Given the description of an element on the screen output the (x, y) to click on. 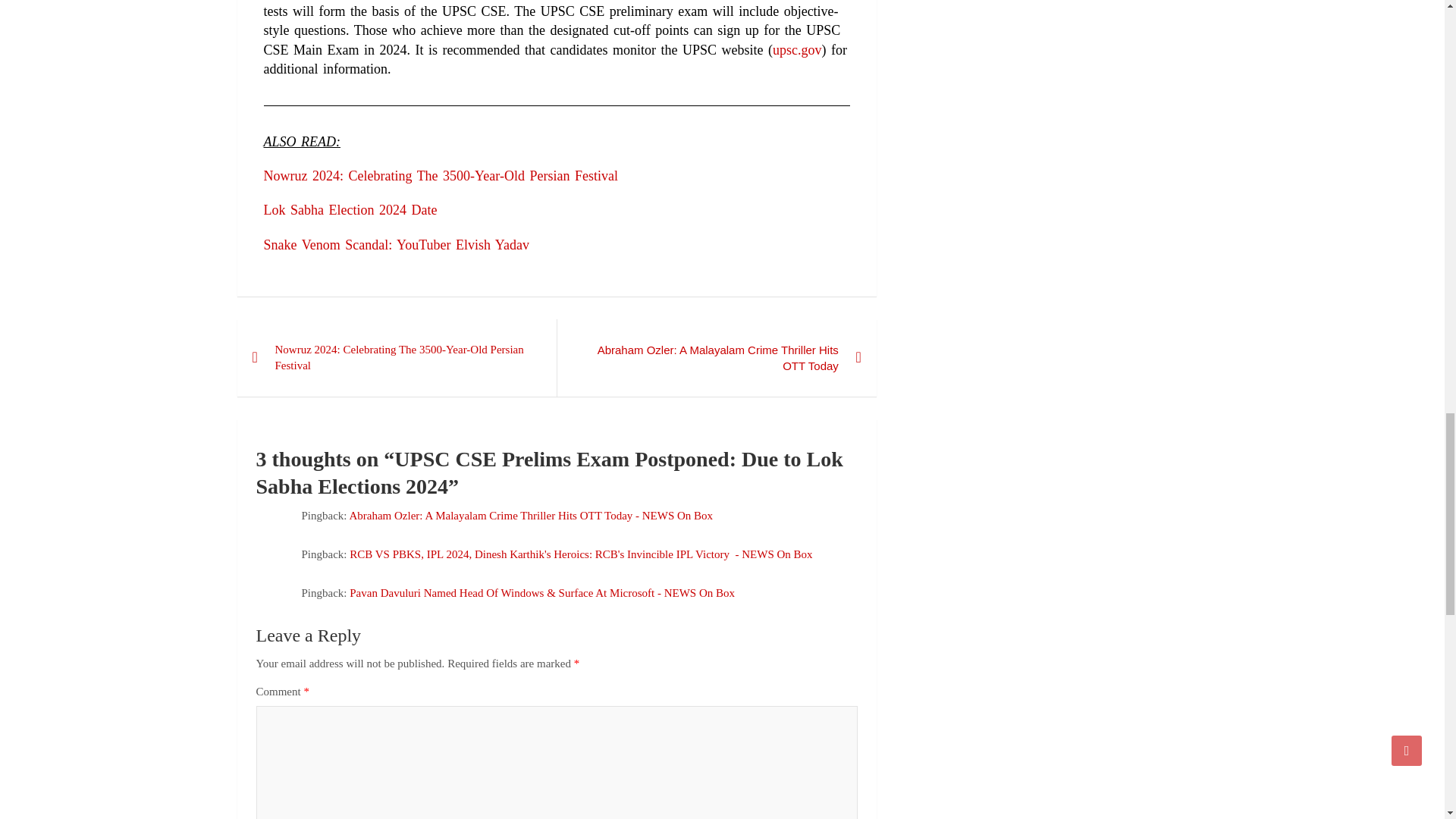
Nowruz 2024: Celebrating The 3500-Year-Old Persian Festival (440, 175)
Nowruz 2024: Celebrating The 3500-Year-Old Persian Festival (395, 357)
Abraham Ozler: A Malayalam Crime Thriller Hits OTT Today (716, 357)
Snake Venom Scandal: YouTuber Elvish Yadav (396, 243)
Lok Sabha Election 2024 Date (350, 209)
upsc.gov (797, 49)
